Given the description of an element on the screen output the (x, y) to click on. 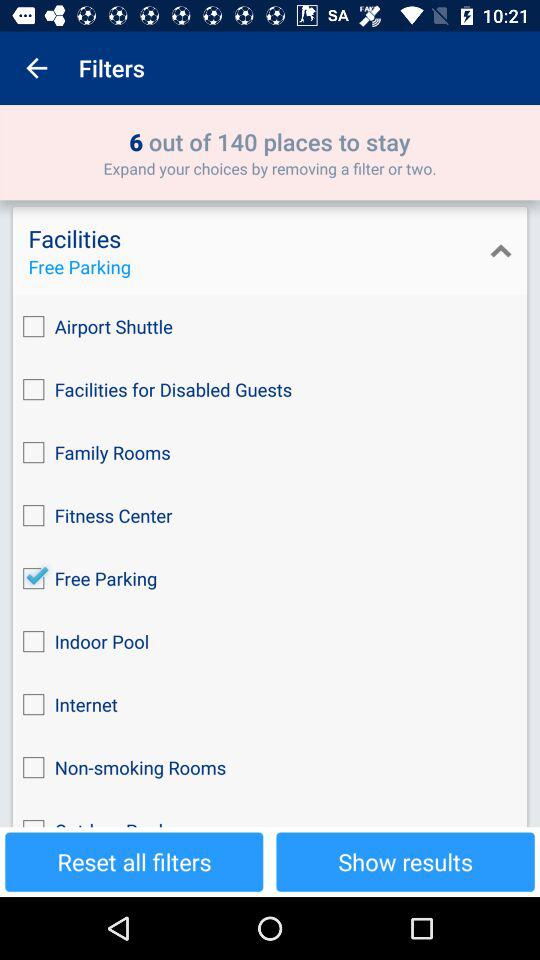
jump until fitness center checkbox (269, 515)
